Given the description of an element on the screen output the (x, y) to click on. 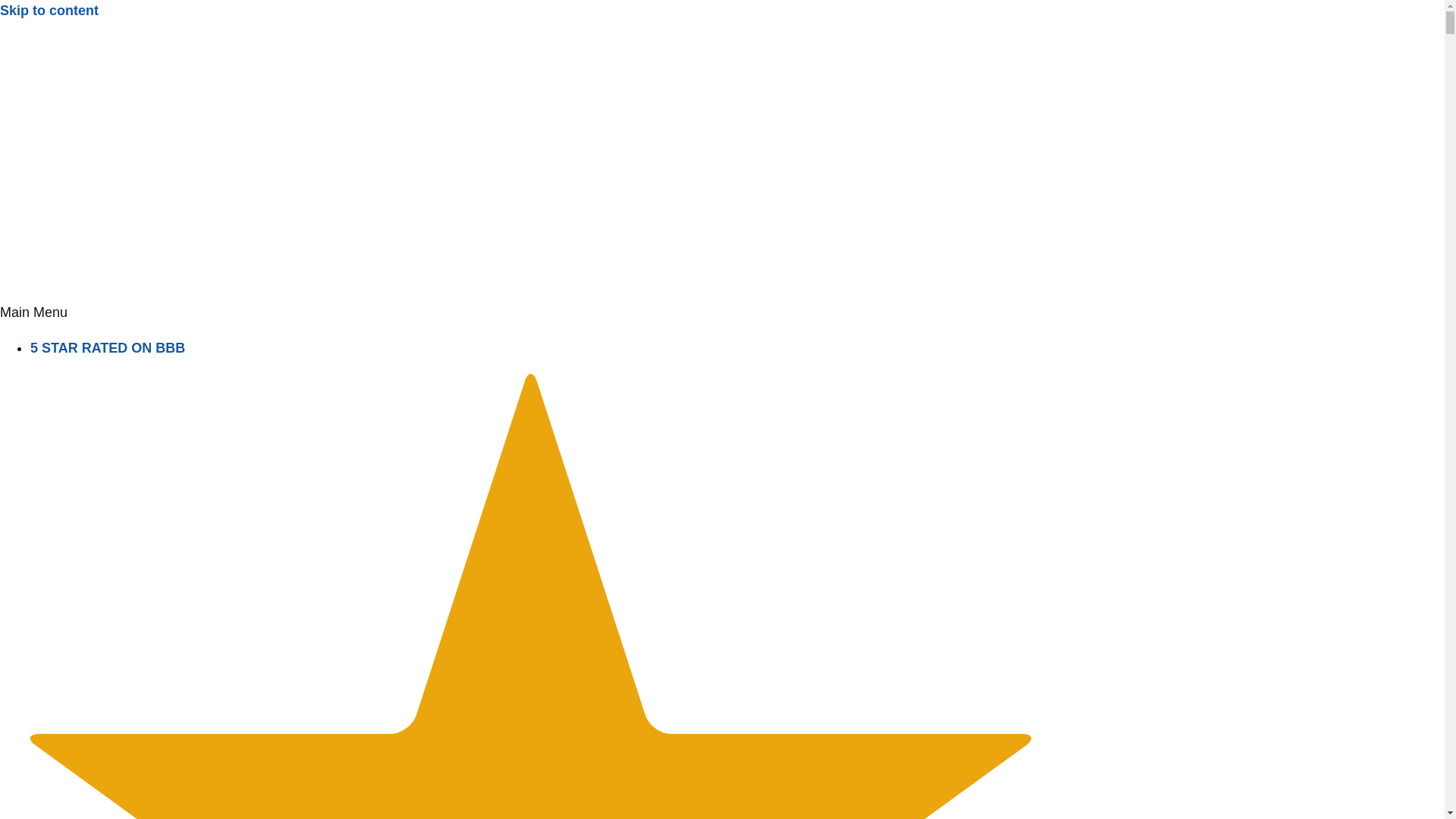
Skip to content (49, 10)
Skip to content (49, 10)
5 STAR RATED ON BBB (107, 347)
